Given the description of an element on the screen output the (x, y) to click on. 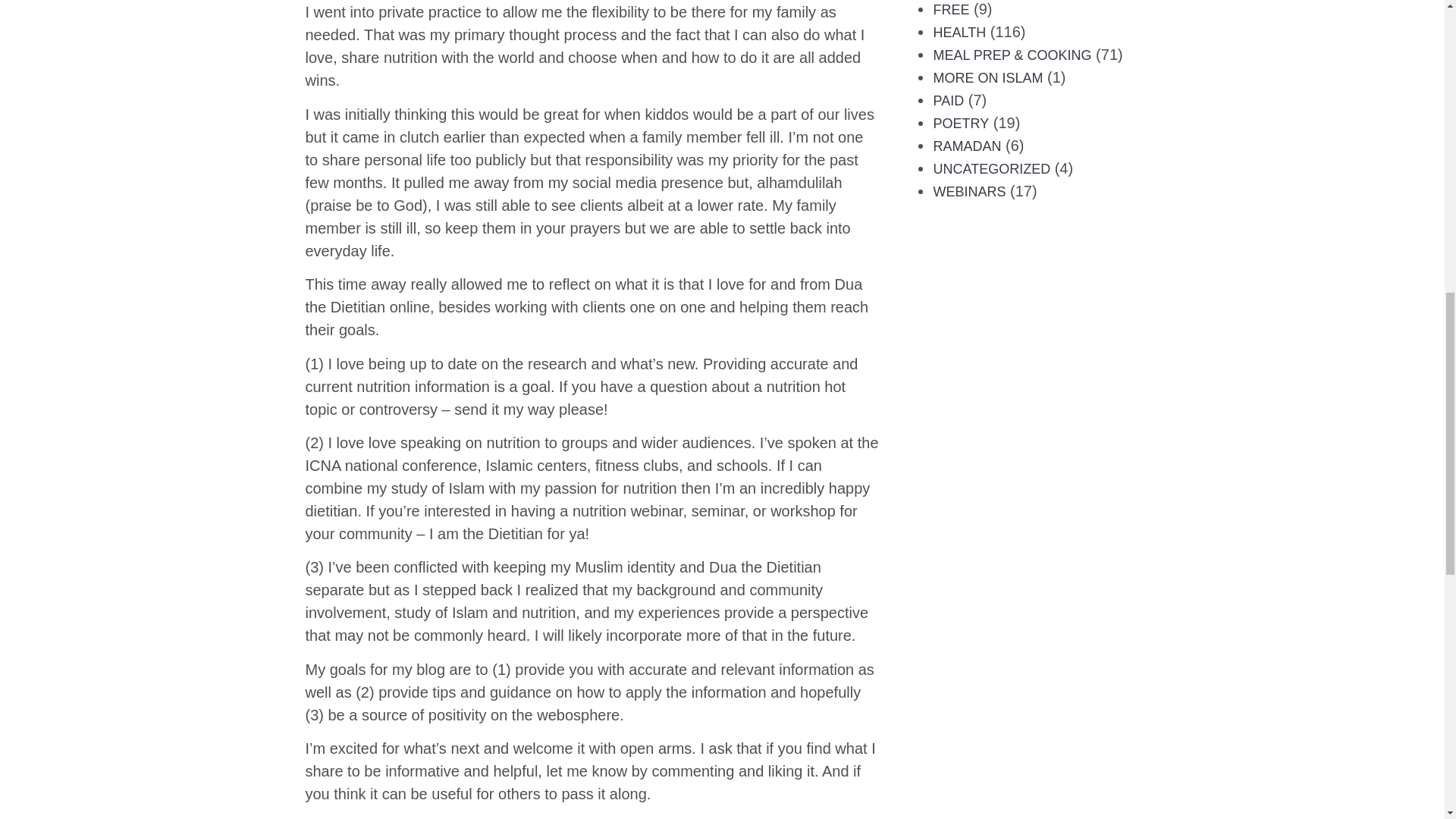
FREE (951, 9)
POETRY (960, 123)
MORE ON ISLAM (987, 77)
HEALTH (959, 32)
PAID (948, 100)
UNCATEGORIZED (991, 168)
WEBINARS (969, 191)
RAMADAN (967, 145)
